Given the description of an element on the screen output the (x, y) to click on. 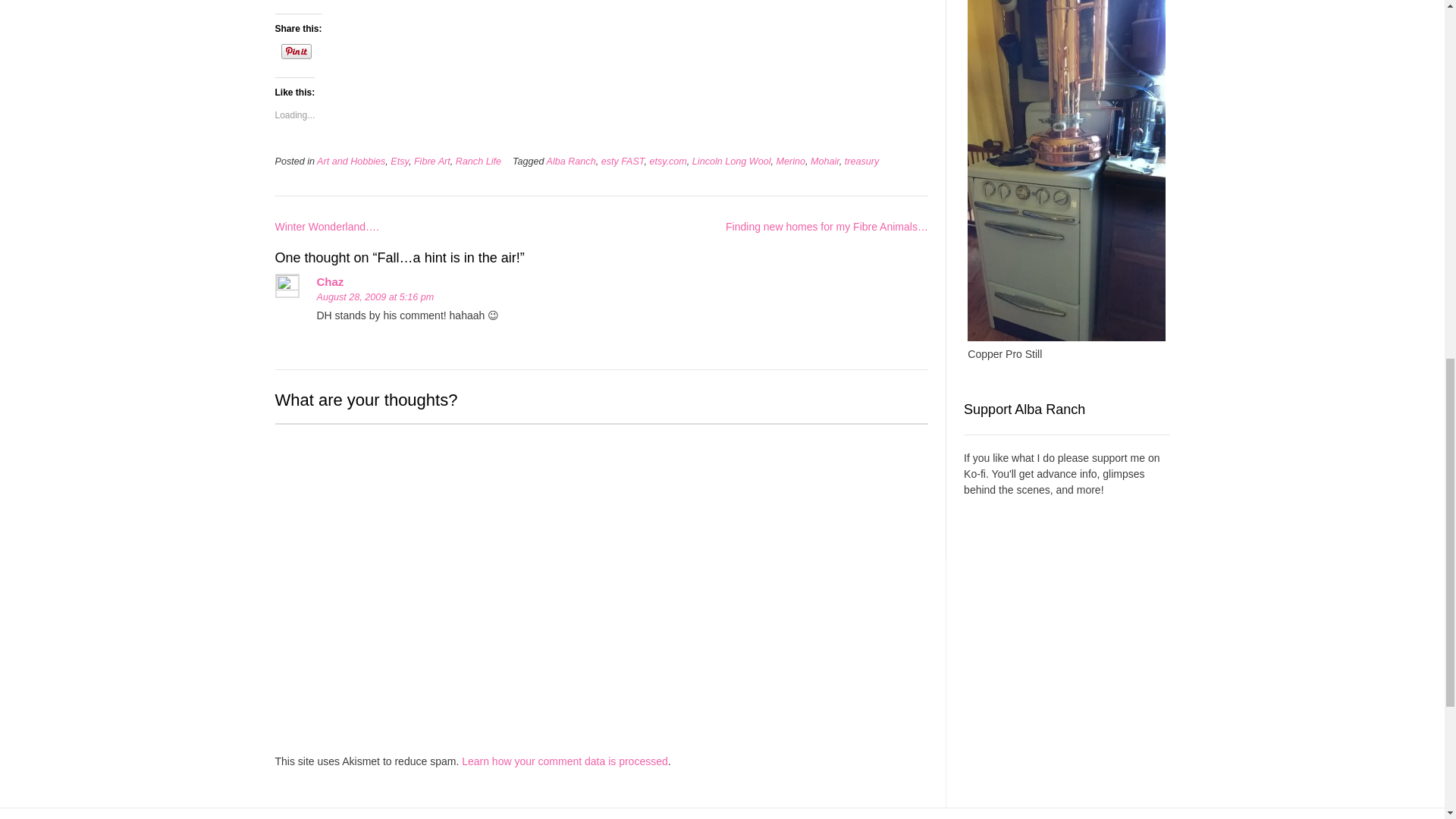
etsy.com (667, 161)
Fibre Art (431, 161)
Ranch Life (477, 161)
Alba Ranch (571, 161)
esty FAST (623, 161)
Art and Hobbies (351, 161)
Etsy (399, 161)
